Given the description of an element on the screen output the (x, y) to click on. 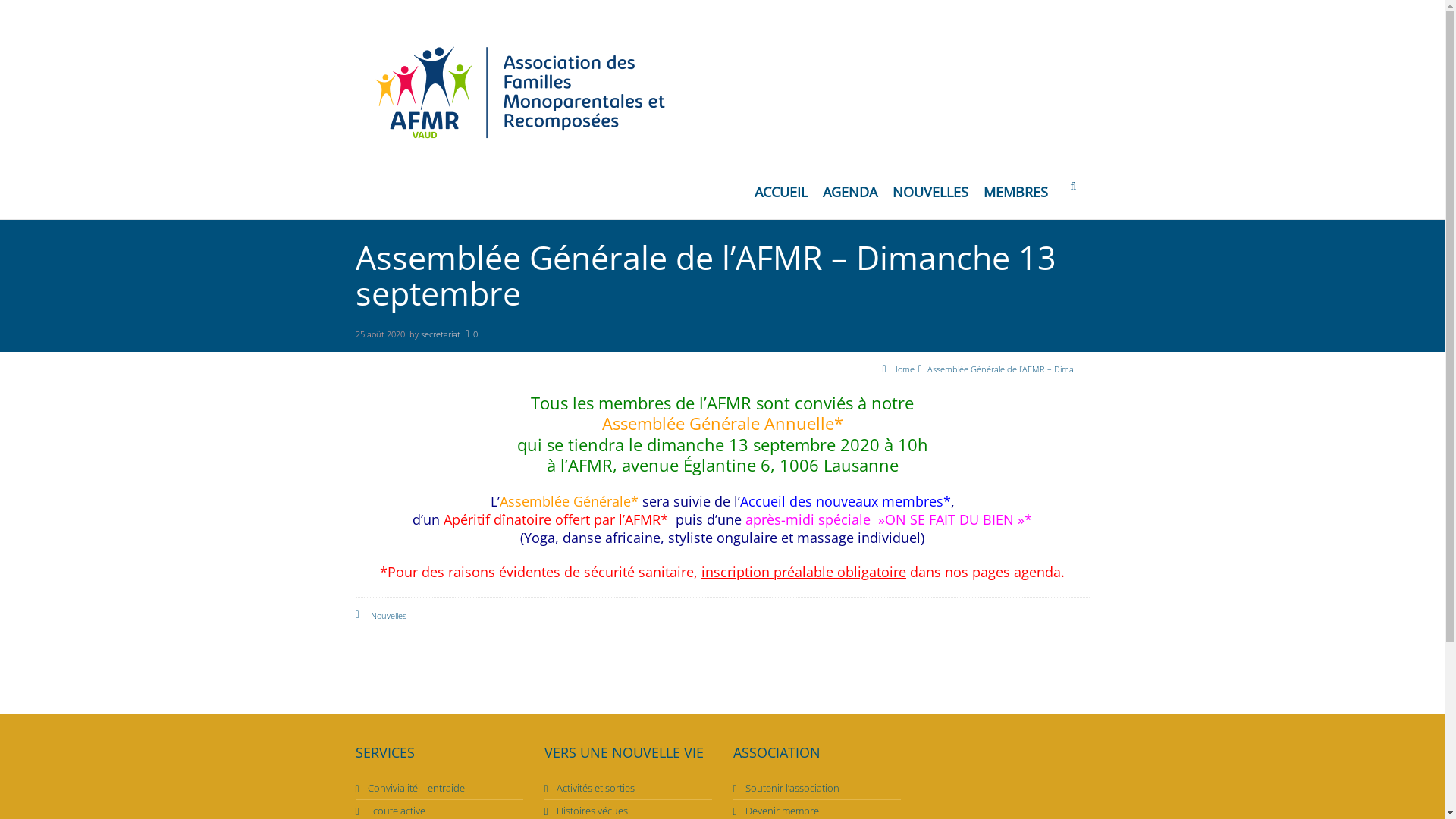
Home Element type: text (902, 368)
Go back to the homepage Element type: hover (721, 92)
ACCUEIL Element type: text (780, 195)
Nouvelles Element type: text (387, 615)
MEMBRES Element type: text (1014, 195)
AGENDA Element type: text (849, 195)
Search Element type: text (1052, 282)
0 Element type: text (471, 333)
secretariat Element type: text (441, 333)
  Element type: text (1076, 190)
NOUVELLES Element type: text (929, 195)
